Given the description of an element on the screen output the (x, y) to click on. 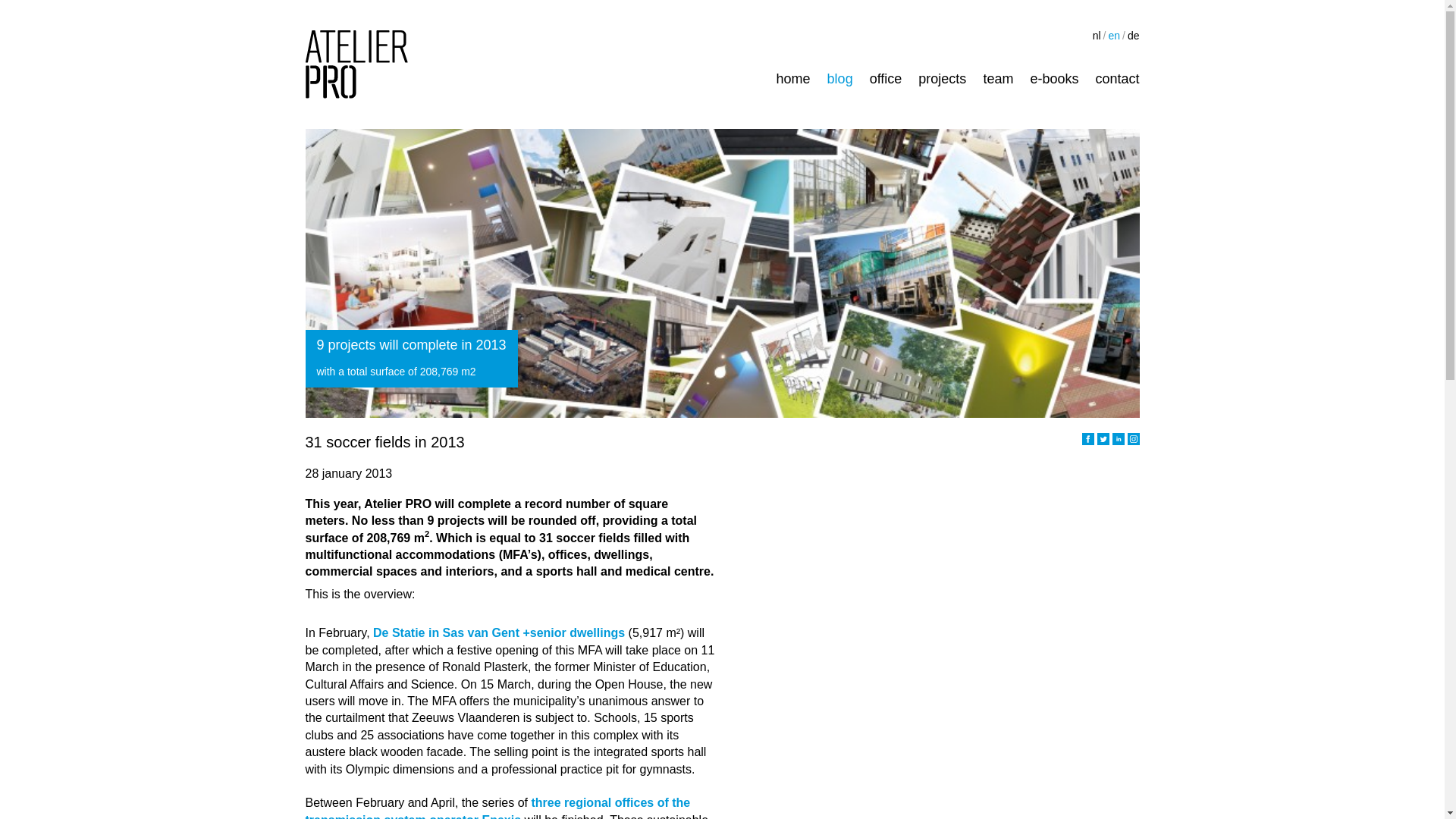
blog (840, 78)
2 (1102, 439)
office (885, 78)
4 (1132, 439)
e-books (1053, 78)
3 (1118, 439)
contact (1116, 78)
projects (942, 78)
1 (1087, 439)
de (1133, 35)
home (793, 78)
team (997, 78)
